Given the description of an element on the screen output the (x, y) to click on. 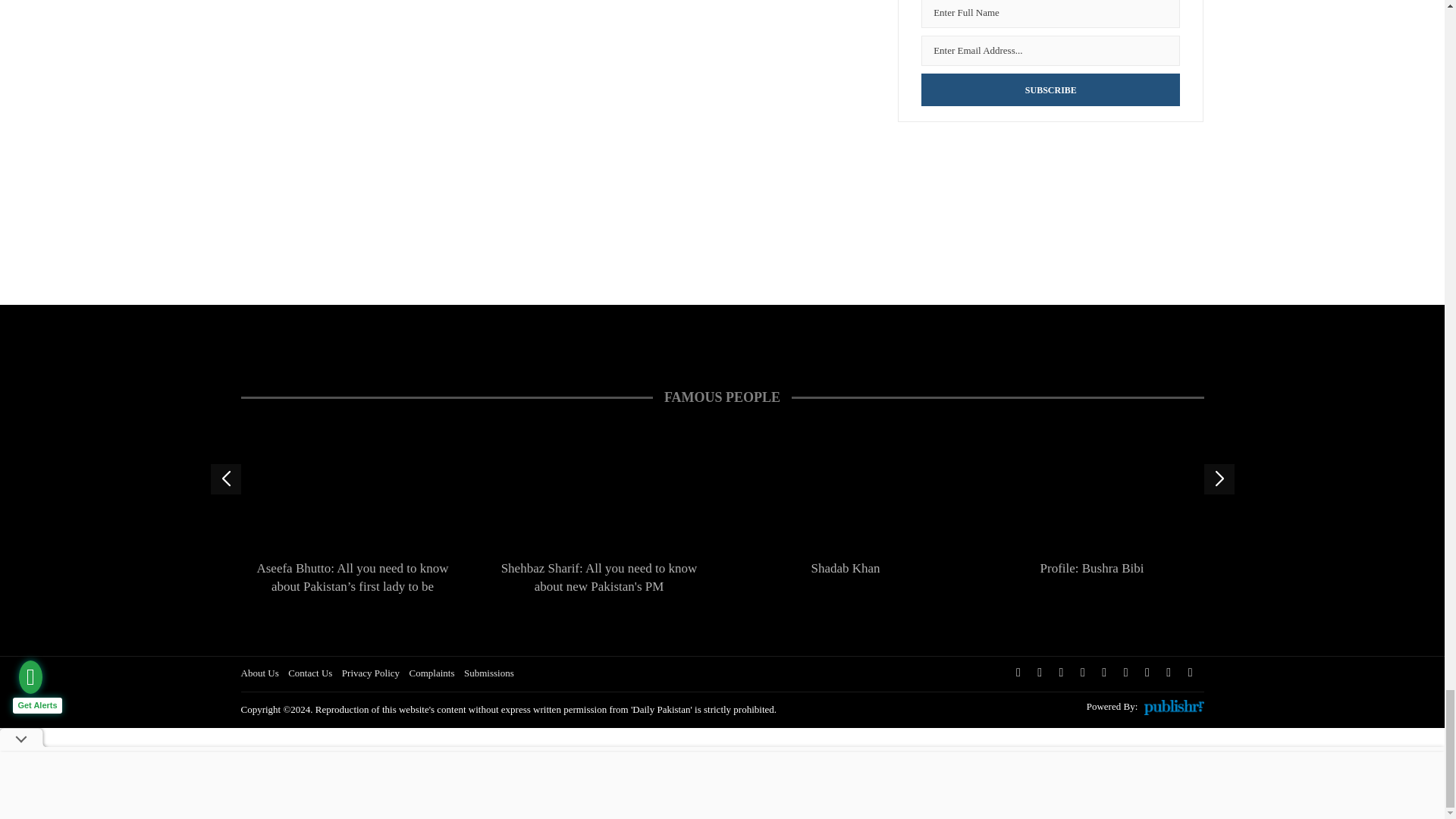
Subscribe (1050, 89)
